Given the description of an element on the screen output the (x, y) to click on. 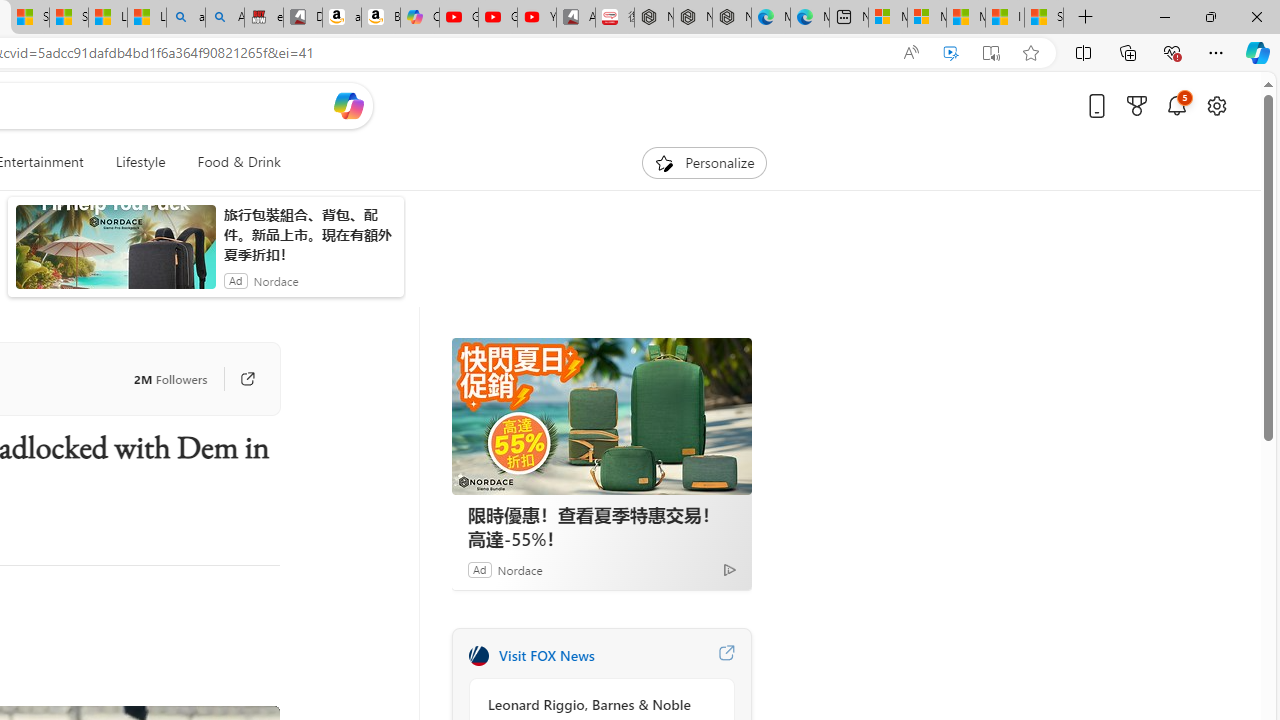
Copilot (419, 17)
Visit FOX News website (726, 655)
